Given the description of an element on the screen output the (x, y) to click on. 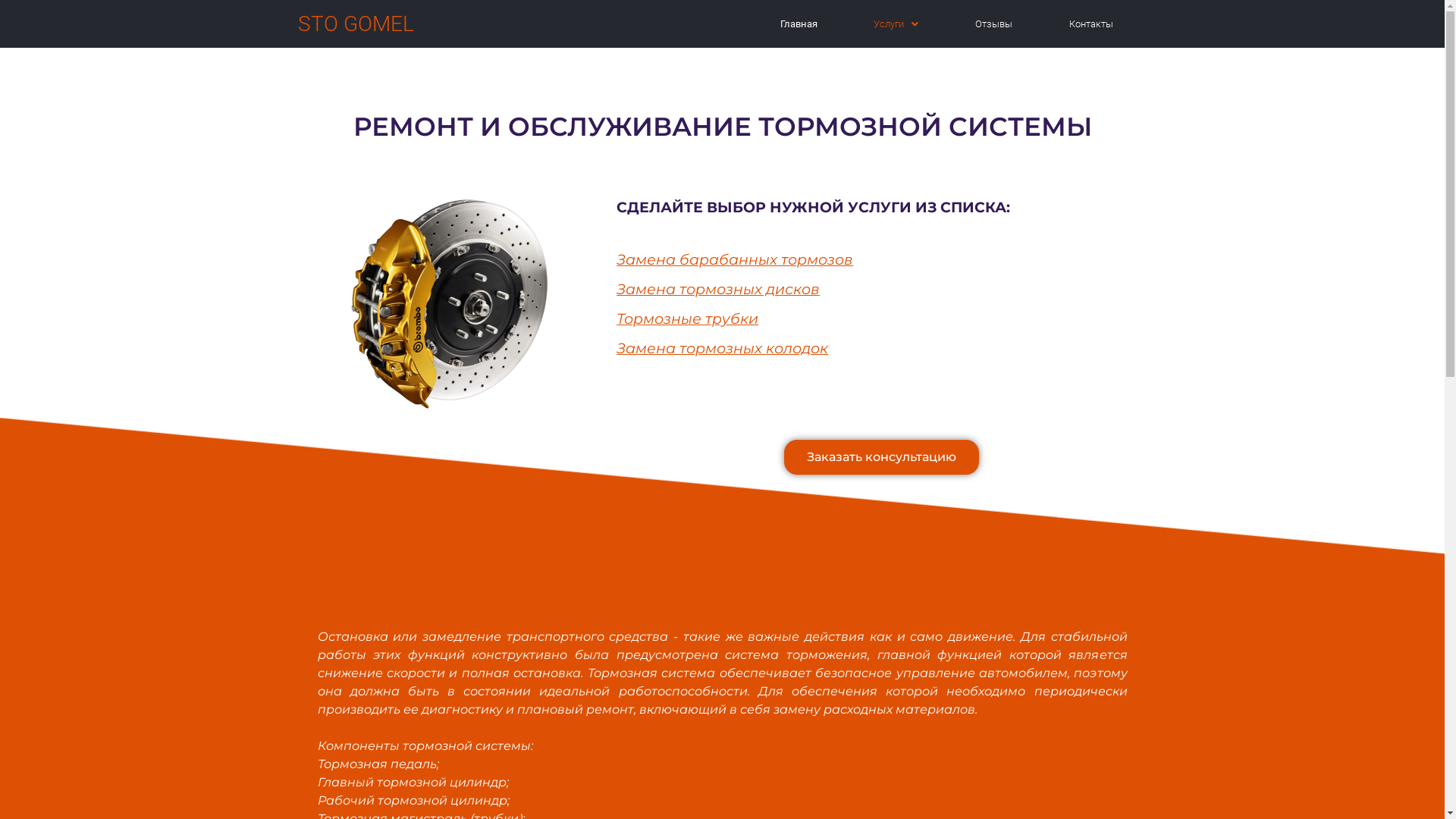
STO GOMEL Element type: text (355, 22)
